Given the description of an element on the screen output the (x, y) to click on. 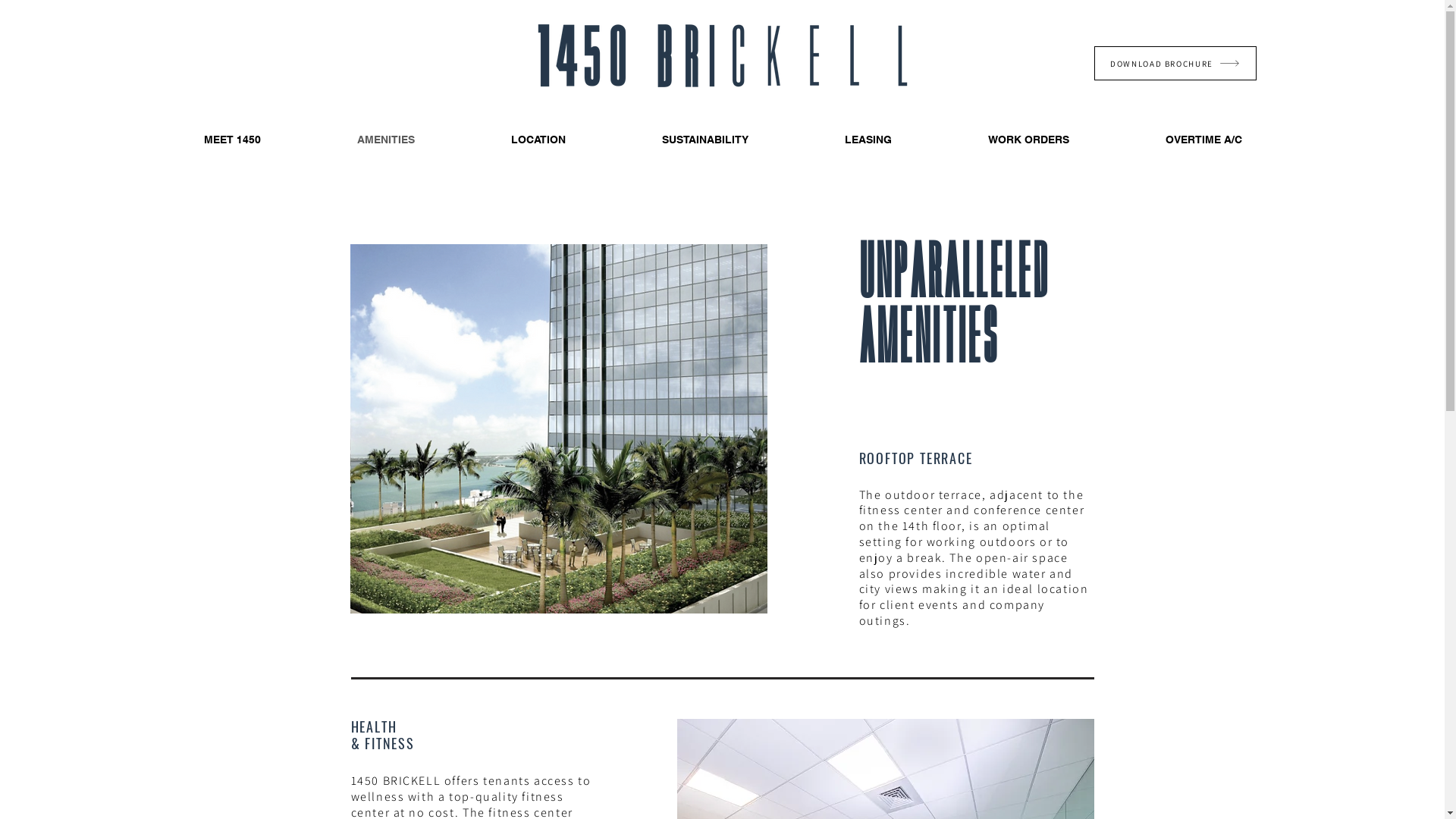
OVERTIME A/C Element type: text (1203, 139)
DOWNLOAD BROCHURE Element type: text (1174, 63)
AMENITIES Element type: text (386, 139)
SUSTAINABILITY Element type: text (705, 139)
MEET 1450 Element type: text (231, 139)
WORK ORDERS Element type: text (1028, 139)
LEASING Element type: text (867, 139)
LOCATION Element type: text (537, 139)
